Given the description of an element on the screen output the (x, y) to click on. 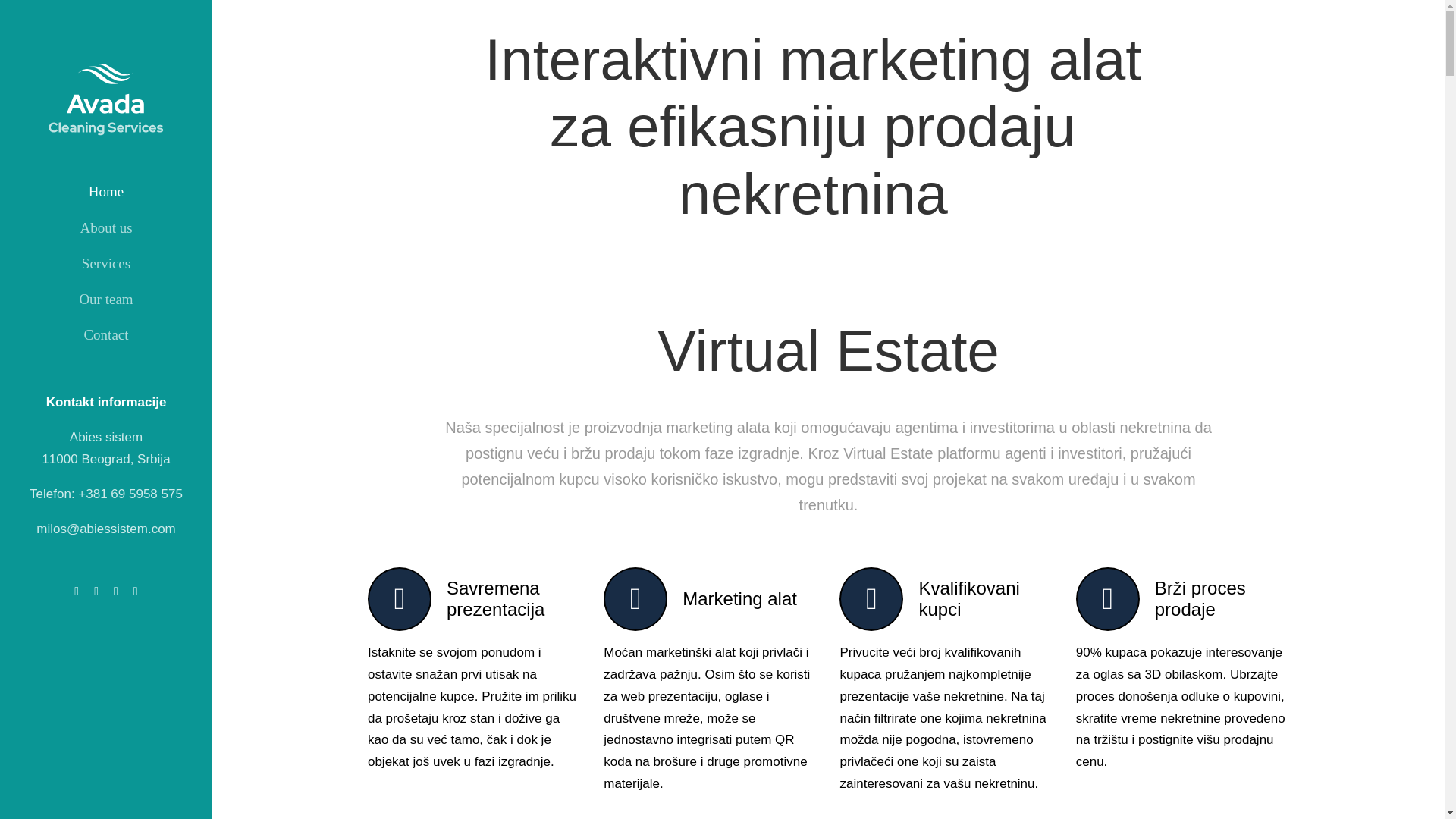
About us Element type: text (106, 228)
Services Element type: text (106, 263)
Our team Element type: text (106, 299)
Home Element type: text (106, 191)
Contact Element type: text (106, 335)
